Given the description of an element on the screen output the (x, y) to click on. 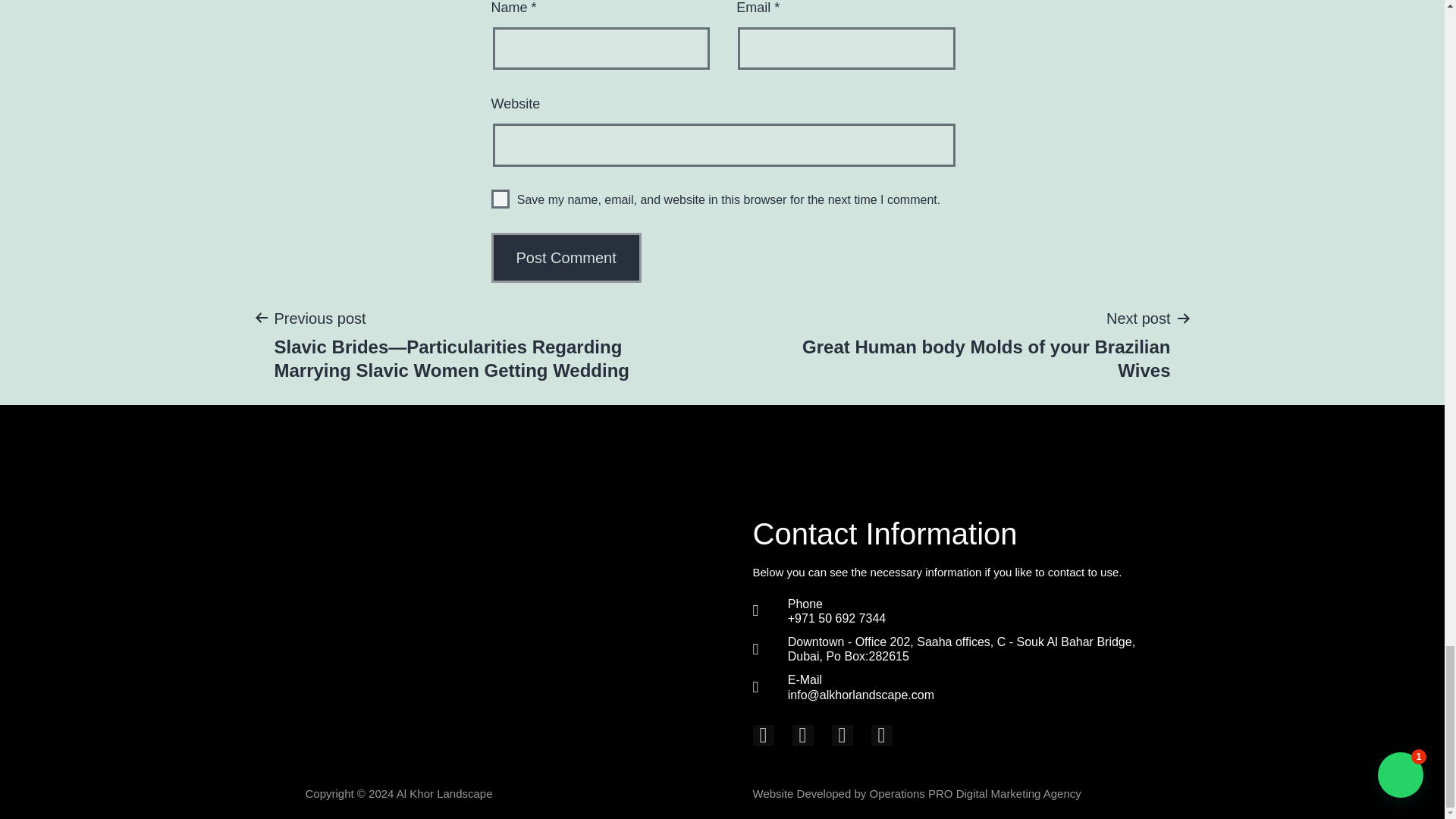
Al Khor Landscape  (446, 793)
Post Comment (567, 257)
yes (500, 198)
Post Comment (567, 257)
